Given the description of an element on the screen output the (x, y) to click on. 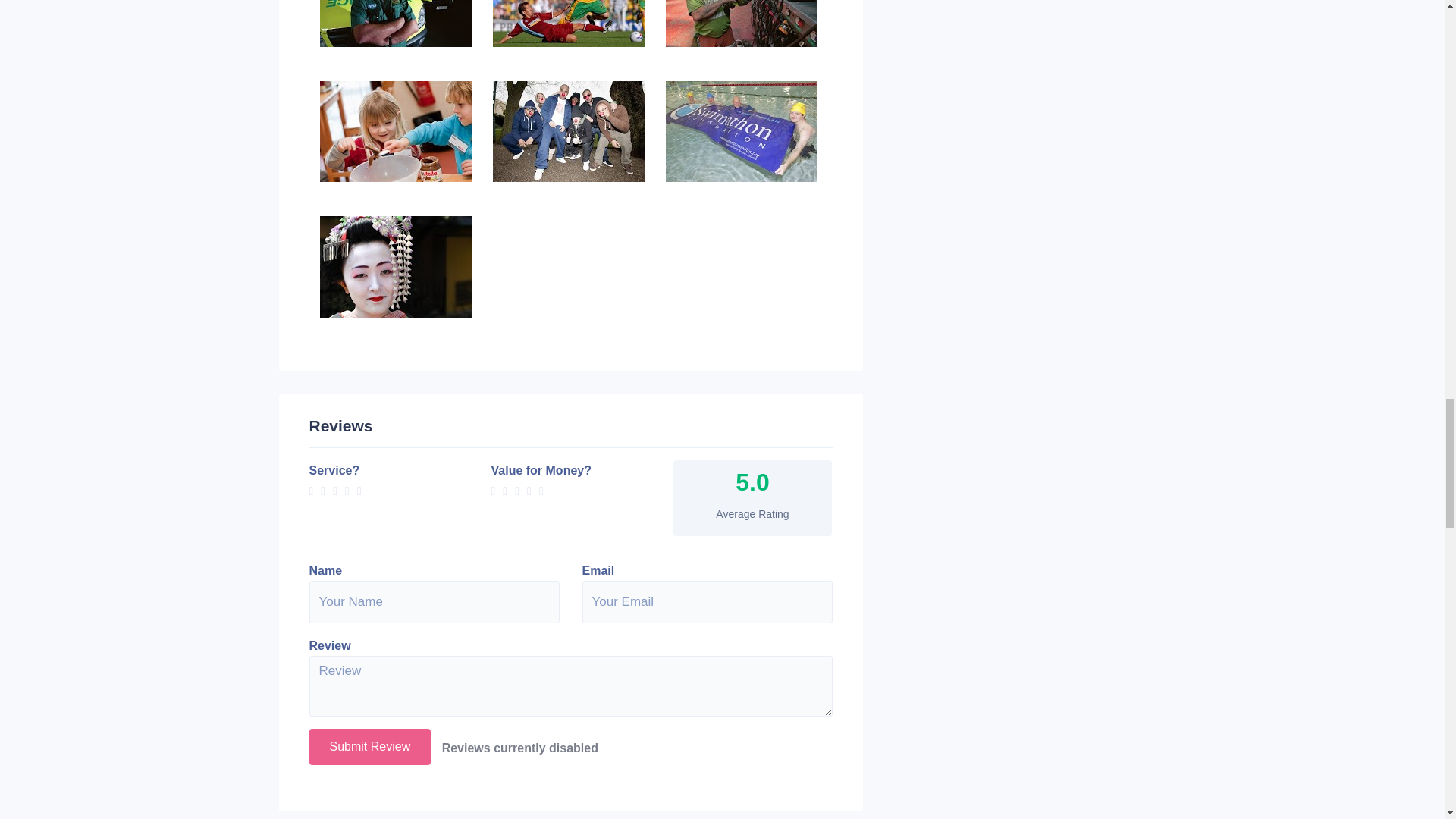
Submit Review (369, 746)
